Given the description of an element on the screen output the (x, y) to click on. 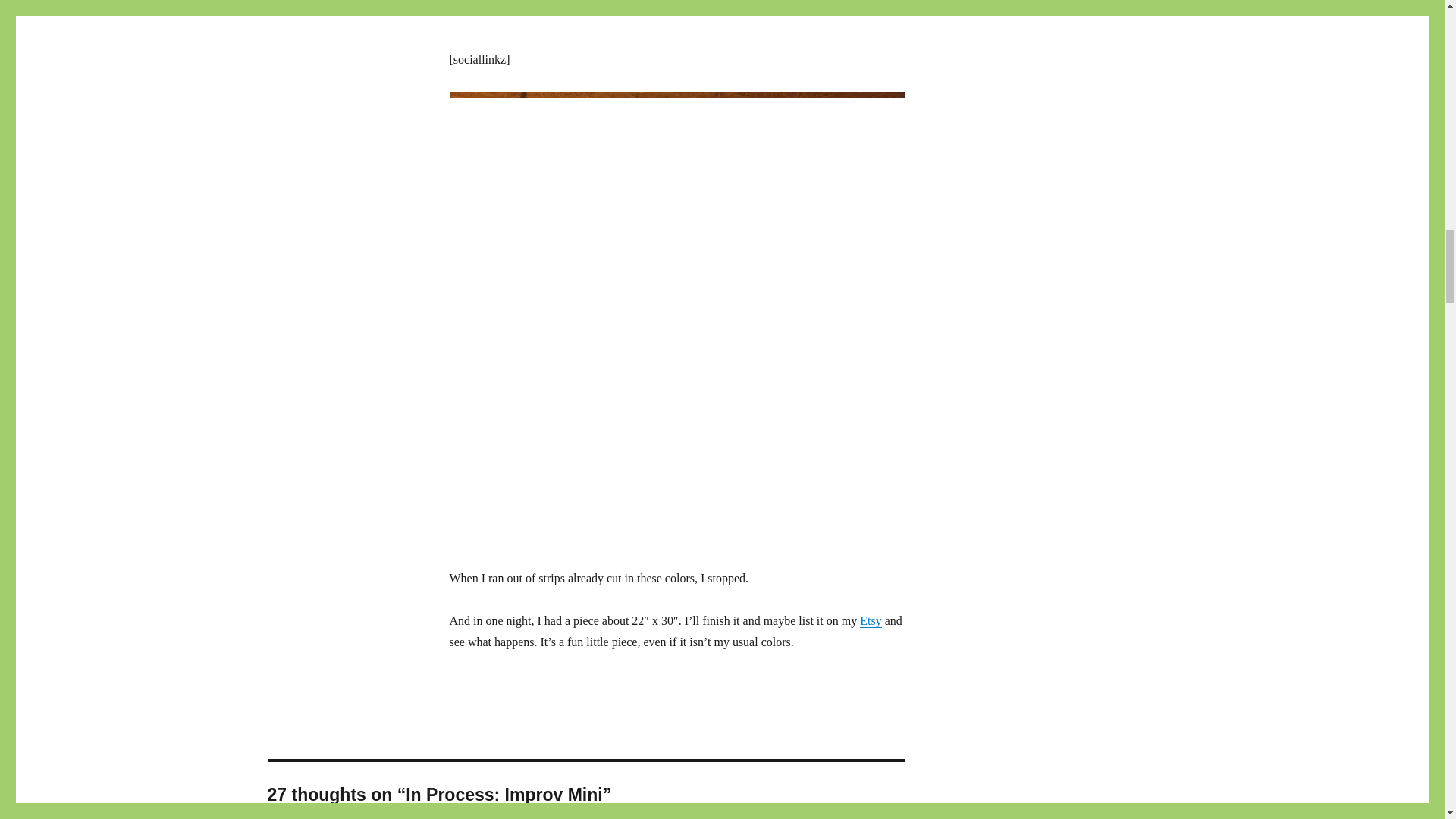
Etsy (870, 620)
